Given the description of an element on the screen output the (x, y) to click on. 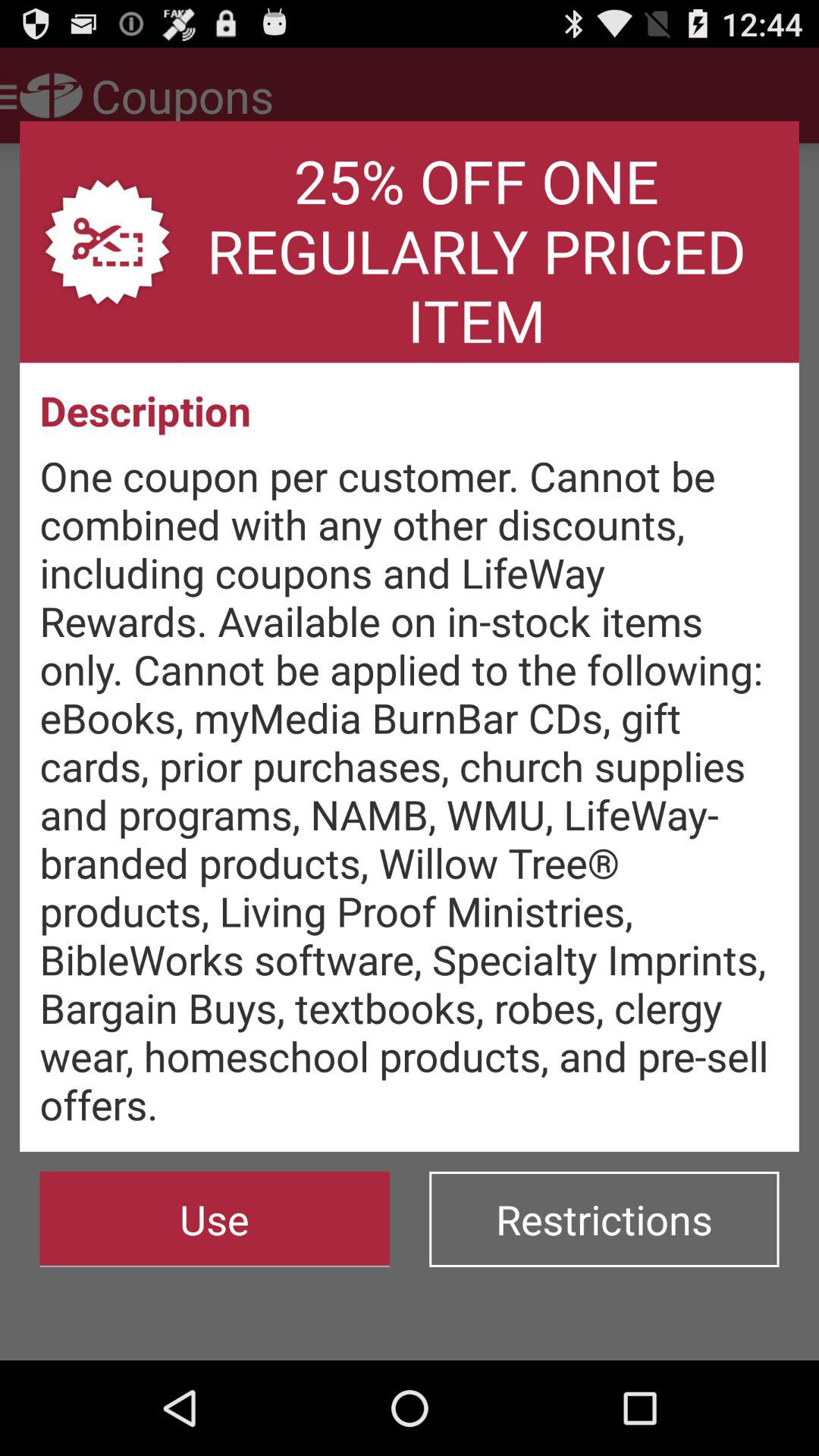
jump until the use (214, 1219)
